Given the description of an element on the screen output the (x, y) to click on. 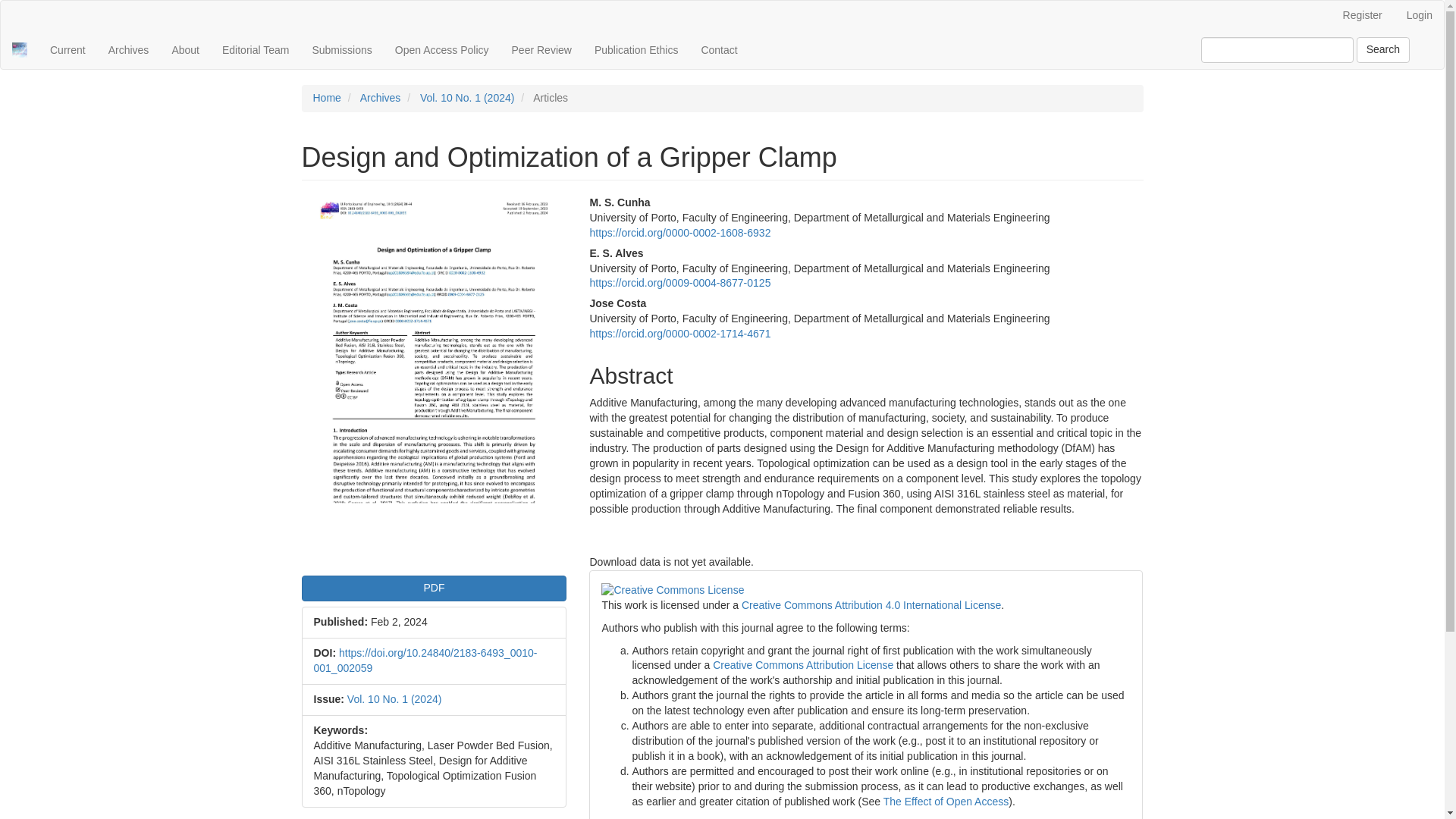
Submissions (340, 49)
Register (1362, 15)
Peer Review (541, 49)
Editorial Team (255, 49)
Search (1382, 49)
The Effect of Open Access (946, 801)
Archives (128, 49)
Contact (718, 49)
Creative Commons Attribution License (803, 664)
Publication Ethics (636, 49)
